Given the description of an element on the screen output the (x, y) to click on. 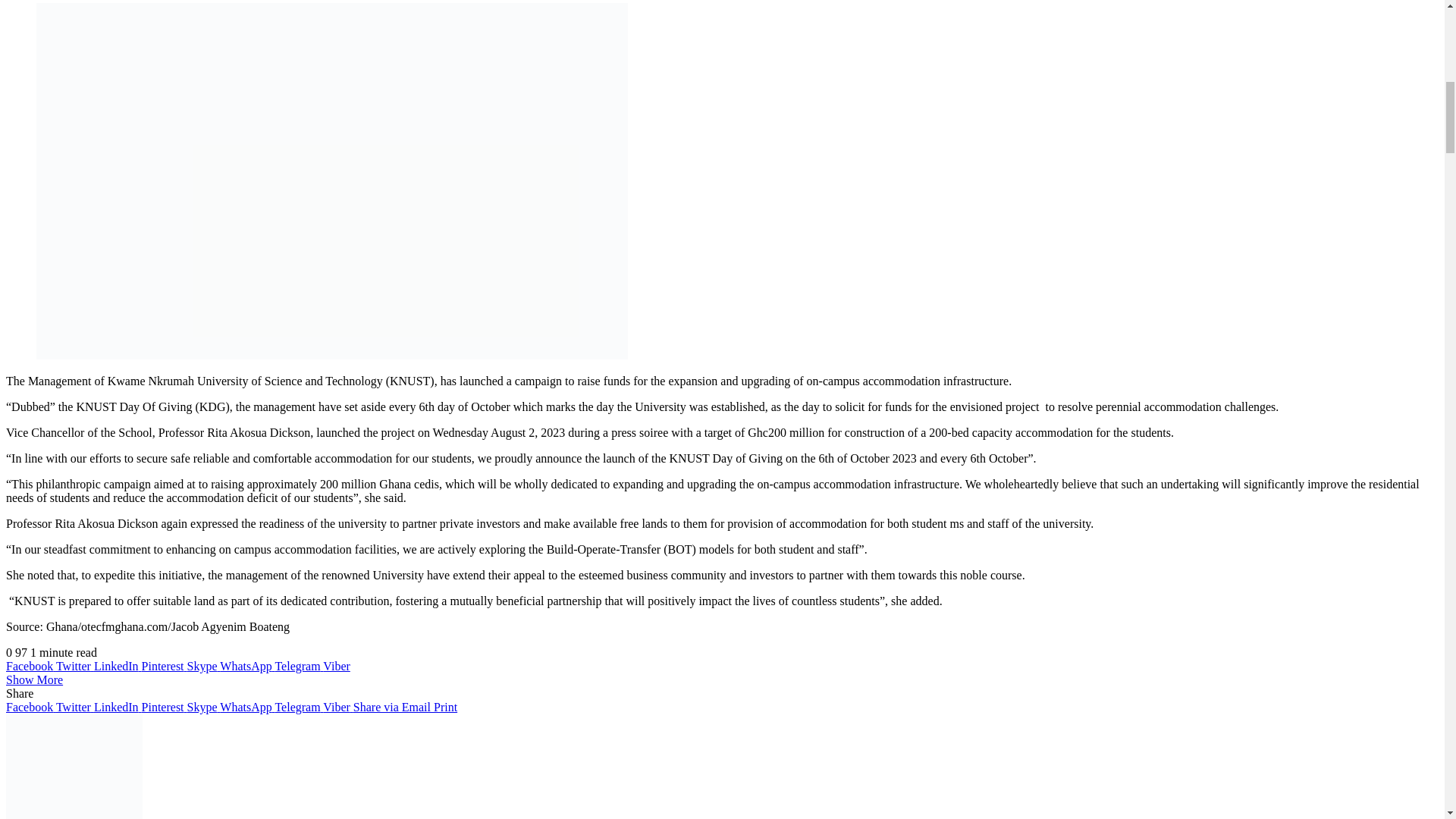
Pinterest (164, 666)
Twitter (75, 666)
Facebook (30, 666)
LinkedIn (117, 666)
